Given the description of an element on the screen output the (x, y) to click on. 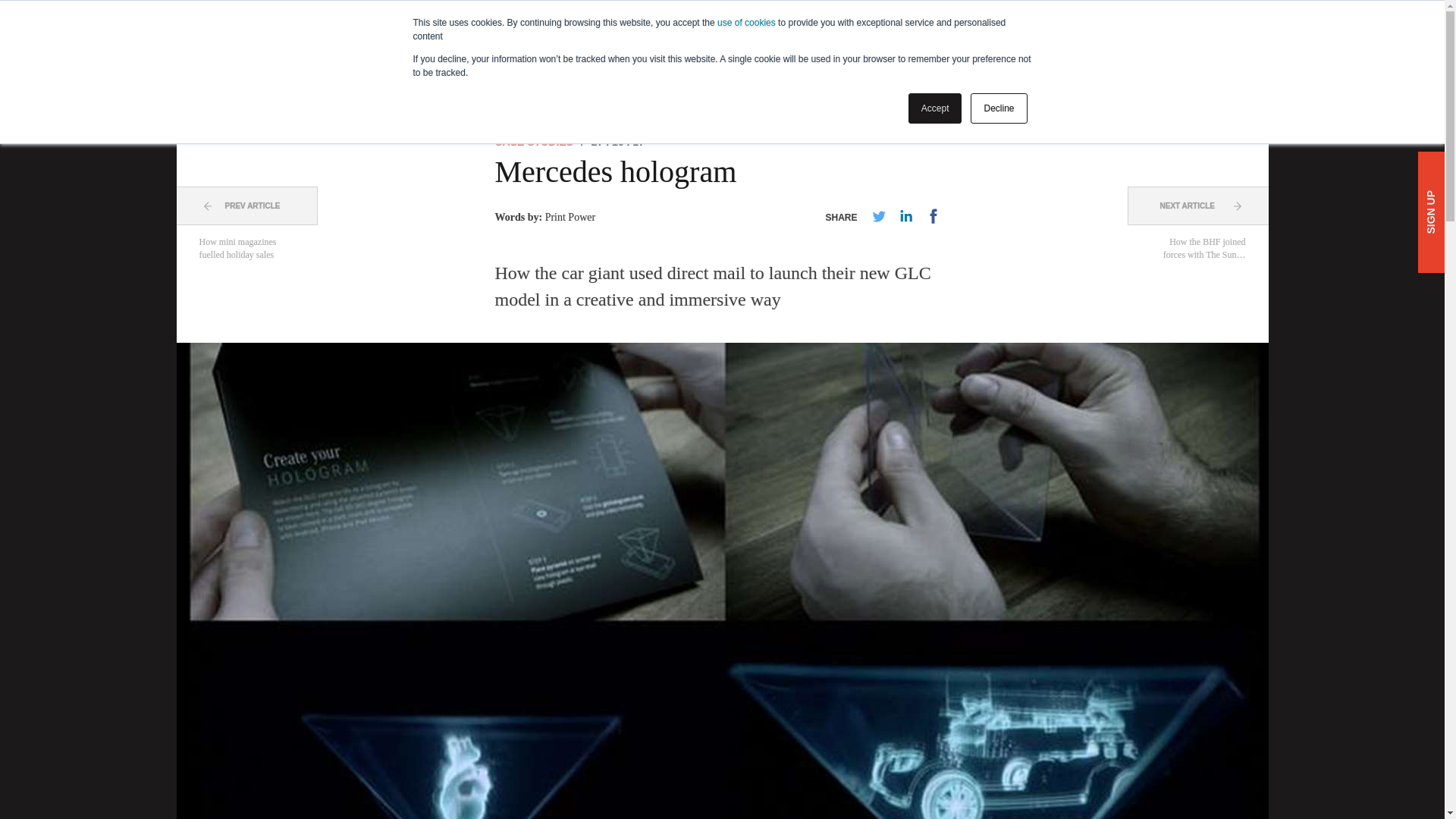
WHY PRINT? (598, 48)
CASE STUDIES (533, 142)
Youtube (246, 223)
EXPERTS (1193, 47)
INSIGHT (836, 48)
Twitter (927, 48)
Page 1 (877, 222)
Page 1 (301, 47)
Decline (301, 49)
arrow (998, 108)
Accept (638, 47)
Youtube (935, 108)
Twitter (1193, 53)
Print Power (1166, 47)
